Given the description of an element on the screen output the (x, y) to click on. 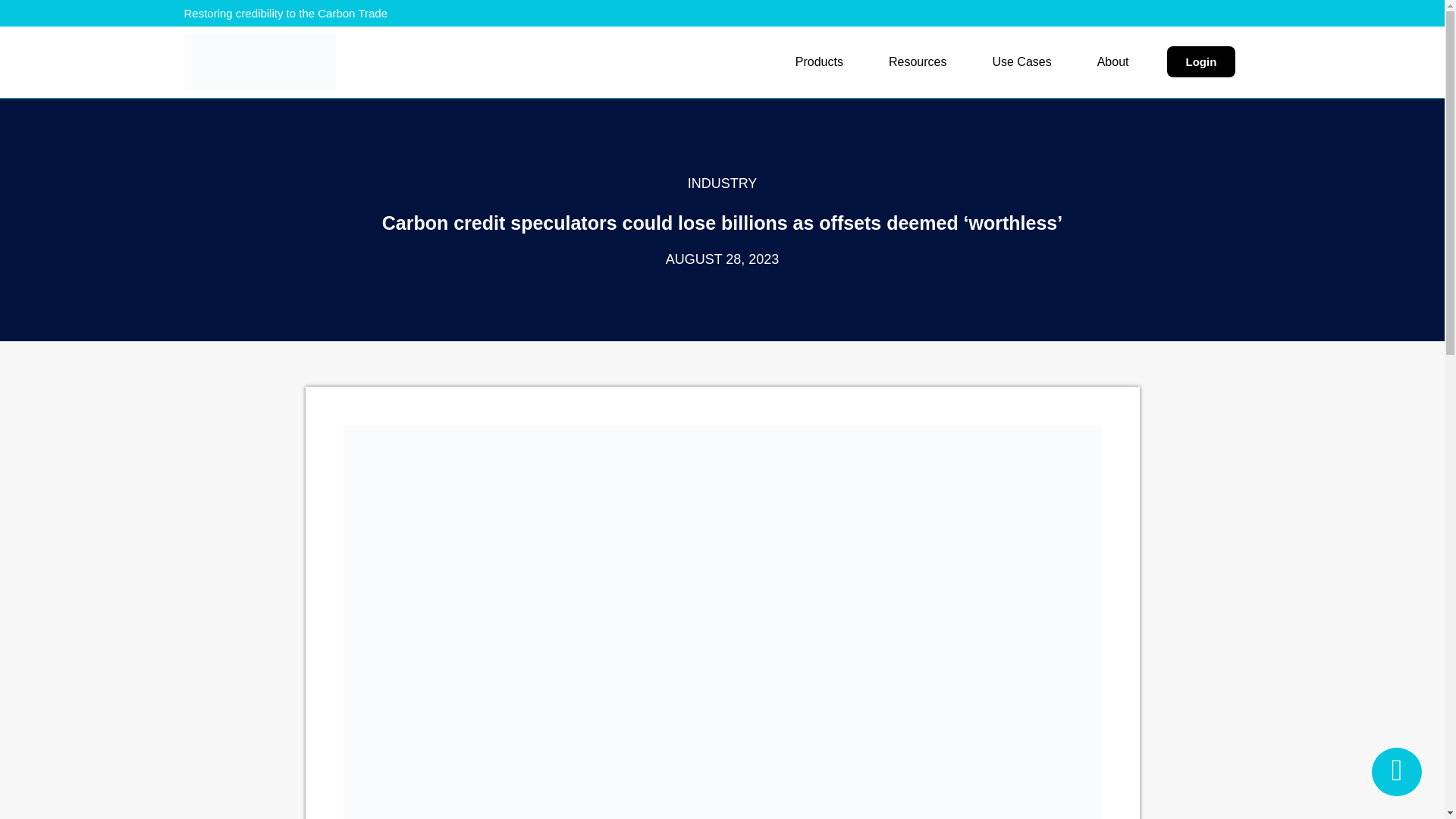
Use Cases (1020, 62)
Products (819, 62)
Login (1200, 60)
About (1112, 62)
Resources (916, 62)
